Given the description of an element on the screen output the (x, y) to click on. 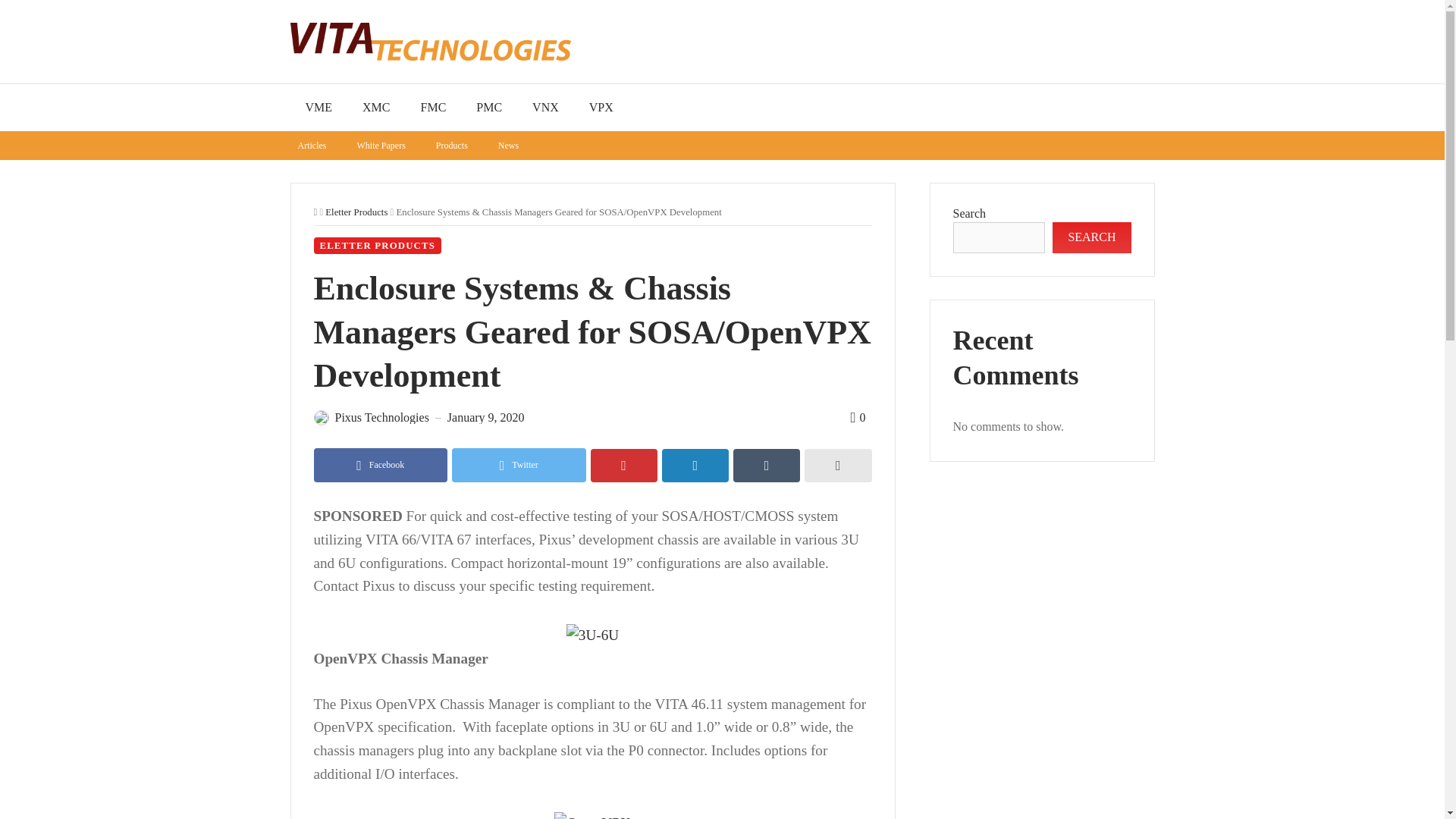
0 (857, 417)
VPX (600, 107)
VME (318, 107)
News (508, 145)
PMC (488, 107)
Pixus Technologies (381, 417)
January 9, 2020 (485, 417)
XMC (375, 107)
3U-6U (592, 635)
ELETTER PRODUCTS (377, 245)
